Given the description of an element on the screen output the (x, y) to click on. 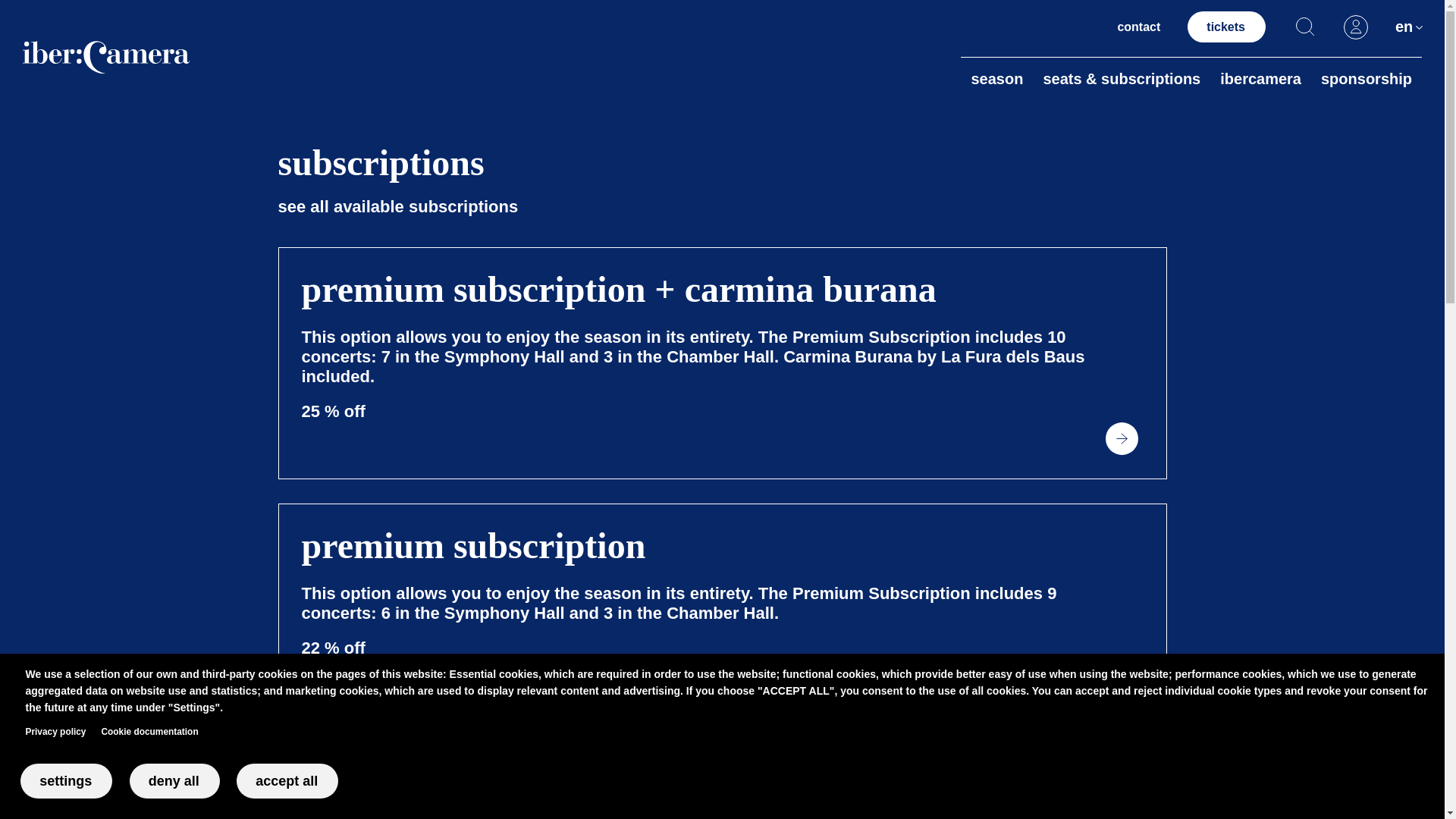
settings (66, 780)
season (996, 78)
accept all (286, 780)
sponsorship (1366, 78)
Cookie documentation (149, 732)
Privacy policy (55, 732)
ibercamera (1260, 78)
deny all (174, 780)
contact (1138, 26)
